Given the description of an element on the screen output the (x, y) to click on. 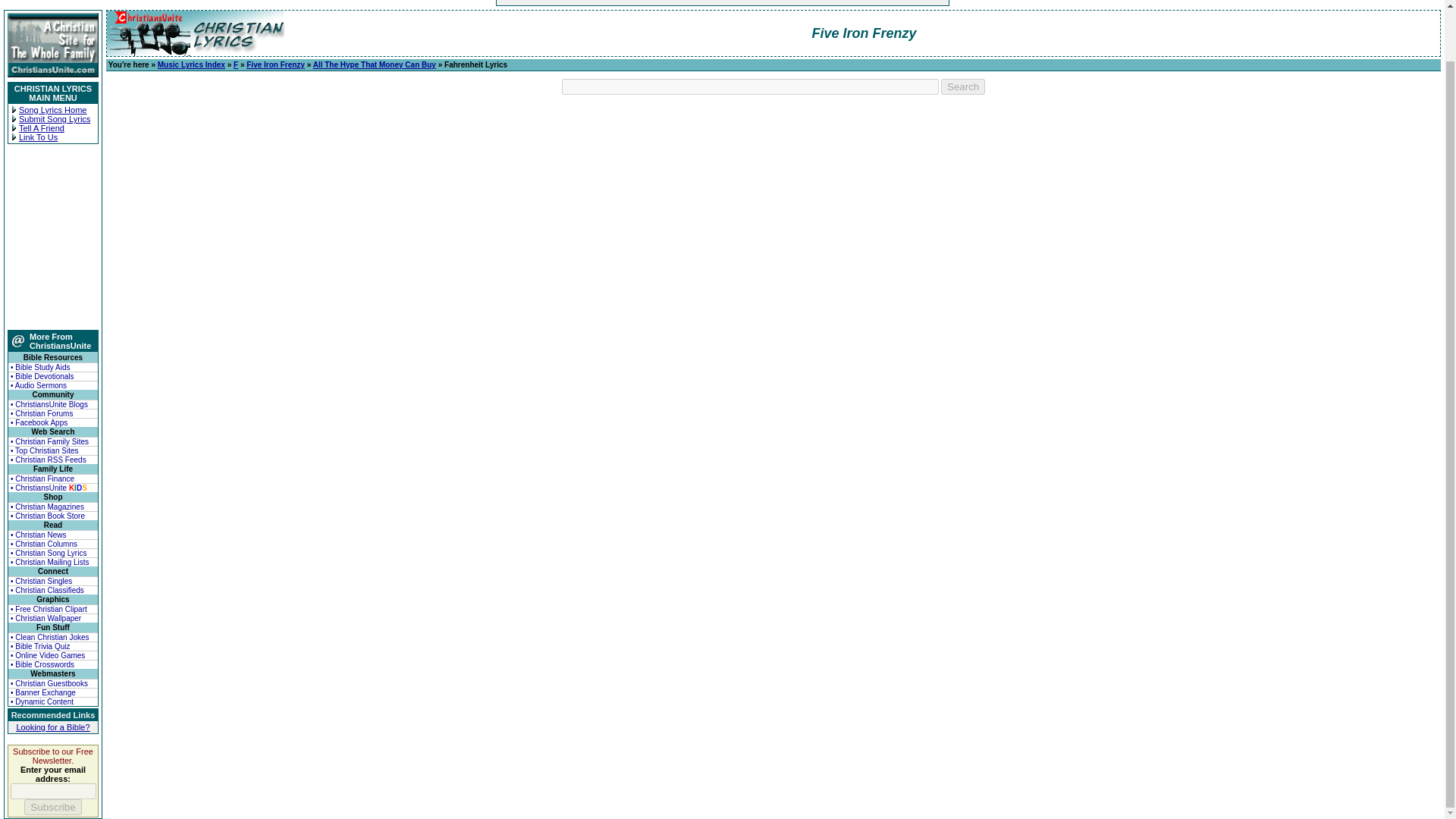
Link To Us (38, 136)
Five Iron Frenzy (275, 64)
Music Lyrics Index (191, 64)
Tell A Friend (41, 127)
Subscribe (52, 806)
Search (962, 86)
All The Hype That Money Can Buy (374, 64)
Submit Song Lyrics (54, 118)
Subscribe (52, 806)
Looking for a Bible? (52, 727)
